Given the description of an element on the screen output the (x, y) to click on. 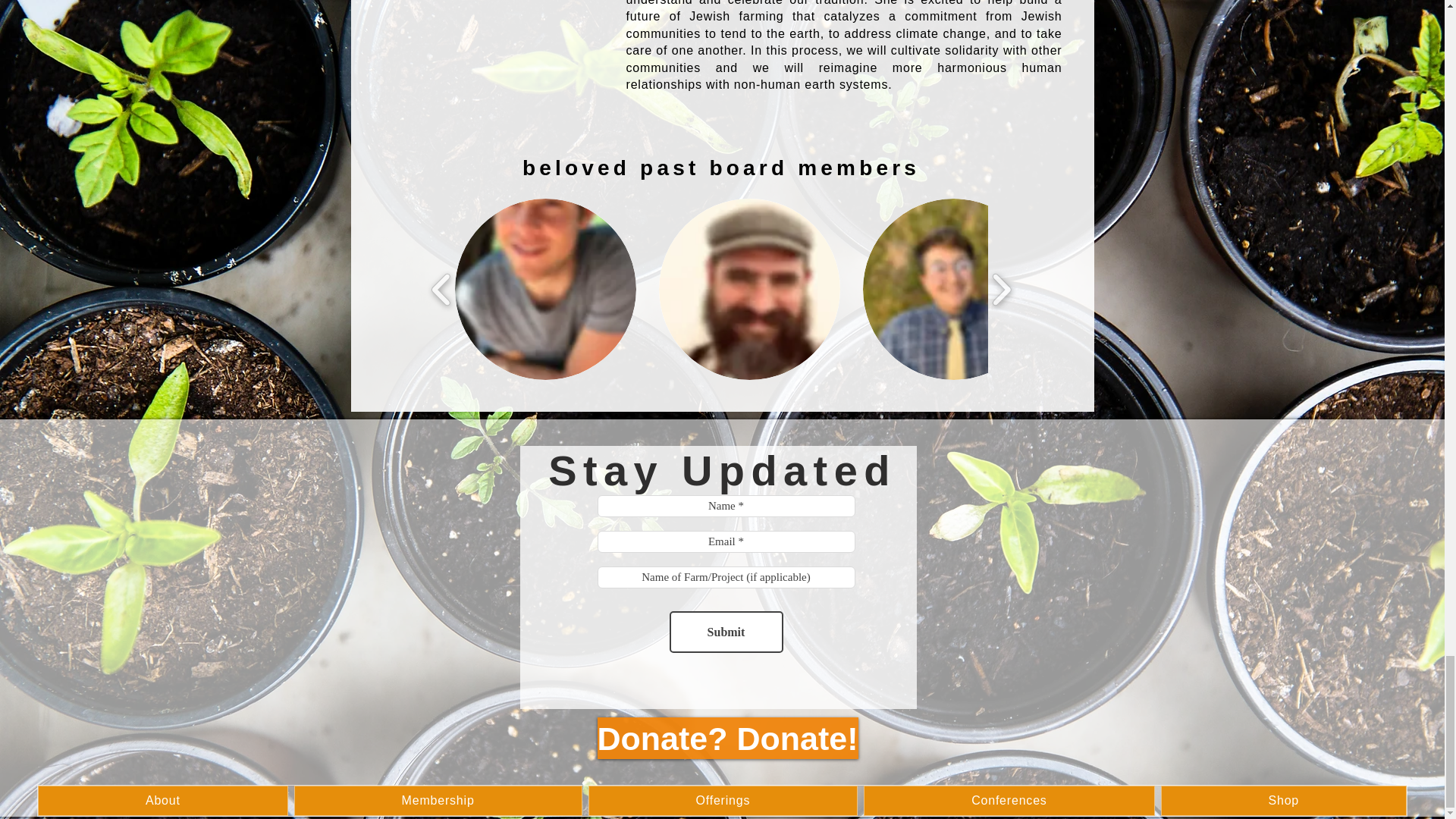
Submit (725, 631)
About (162, 800)
Donate? Donate! (727, 738)
